Given the description of an element on the screen output the (x, y) to click on. 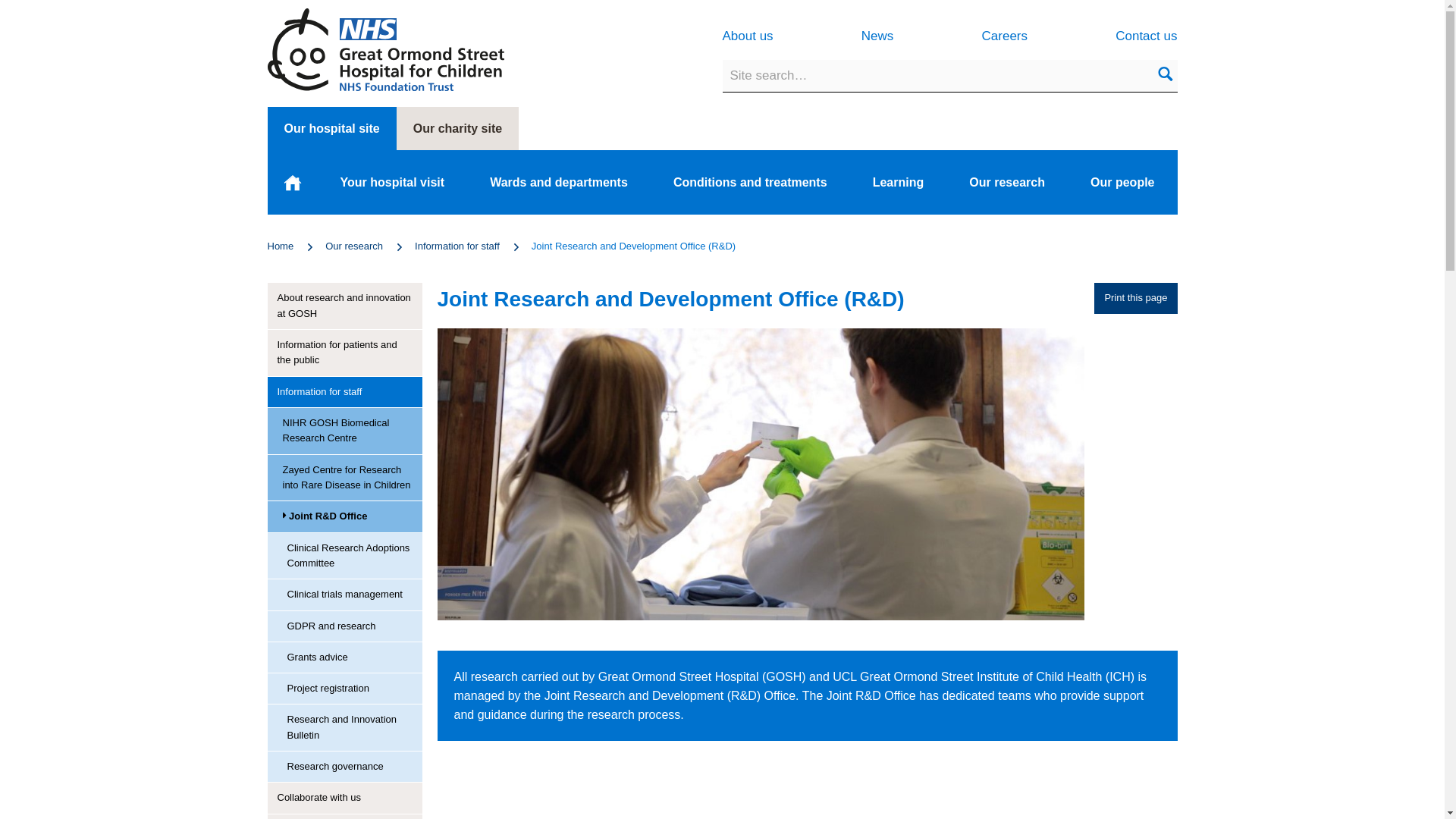
Our charity site (457, 128)
Our hospital site (331, 128)
Search (1164, 76)
About us (747, 36)
News (877, 36)
Contact us (1145, 36)
Careers (1004, 36)
